Given the description of an element on the screen output the (x, y) to click on. 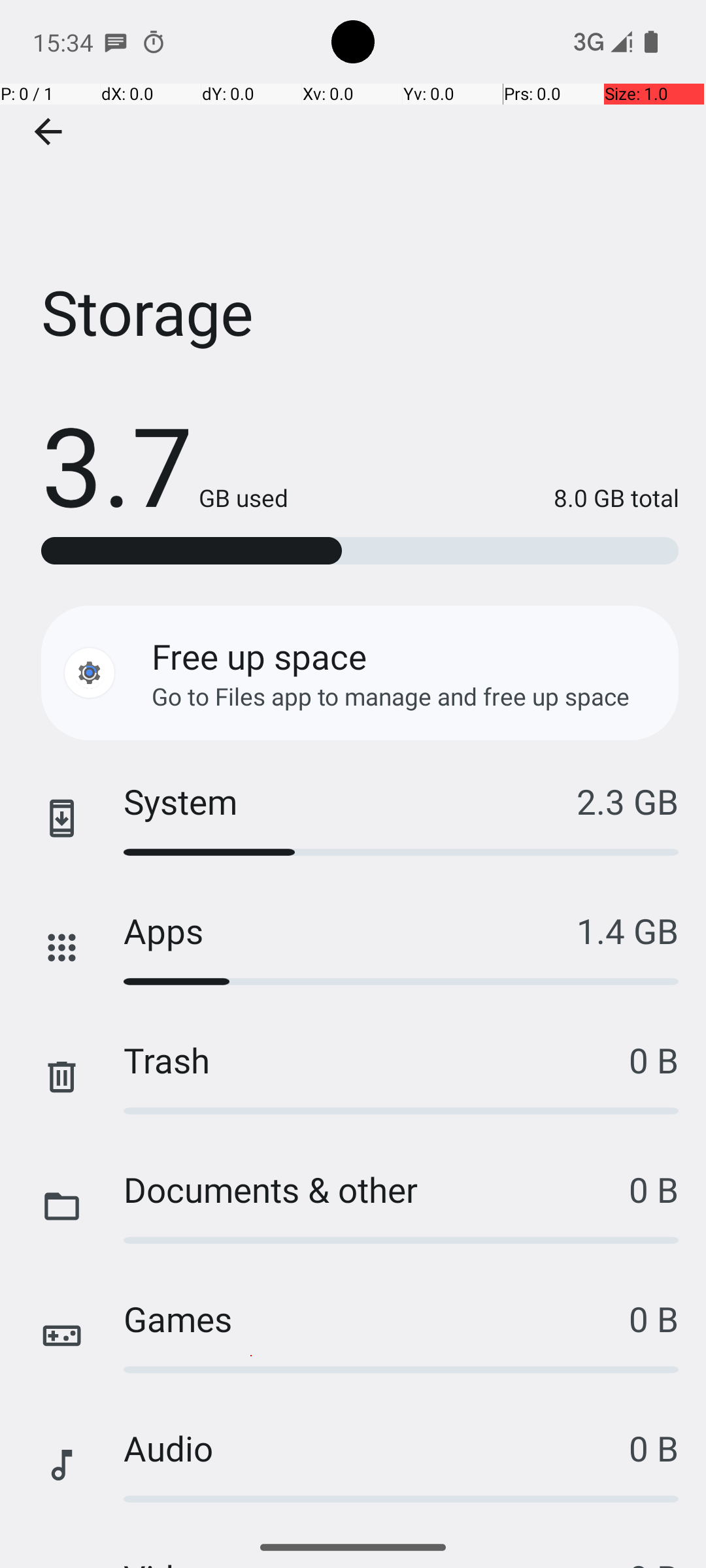
3.7 GB used Element type: android.widget.TextView (164, 463)
